Given the description of an element on the screen output the (x, y) to click on. 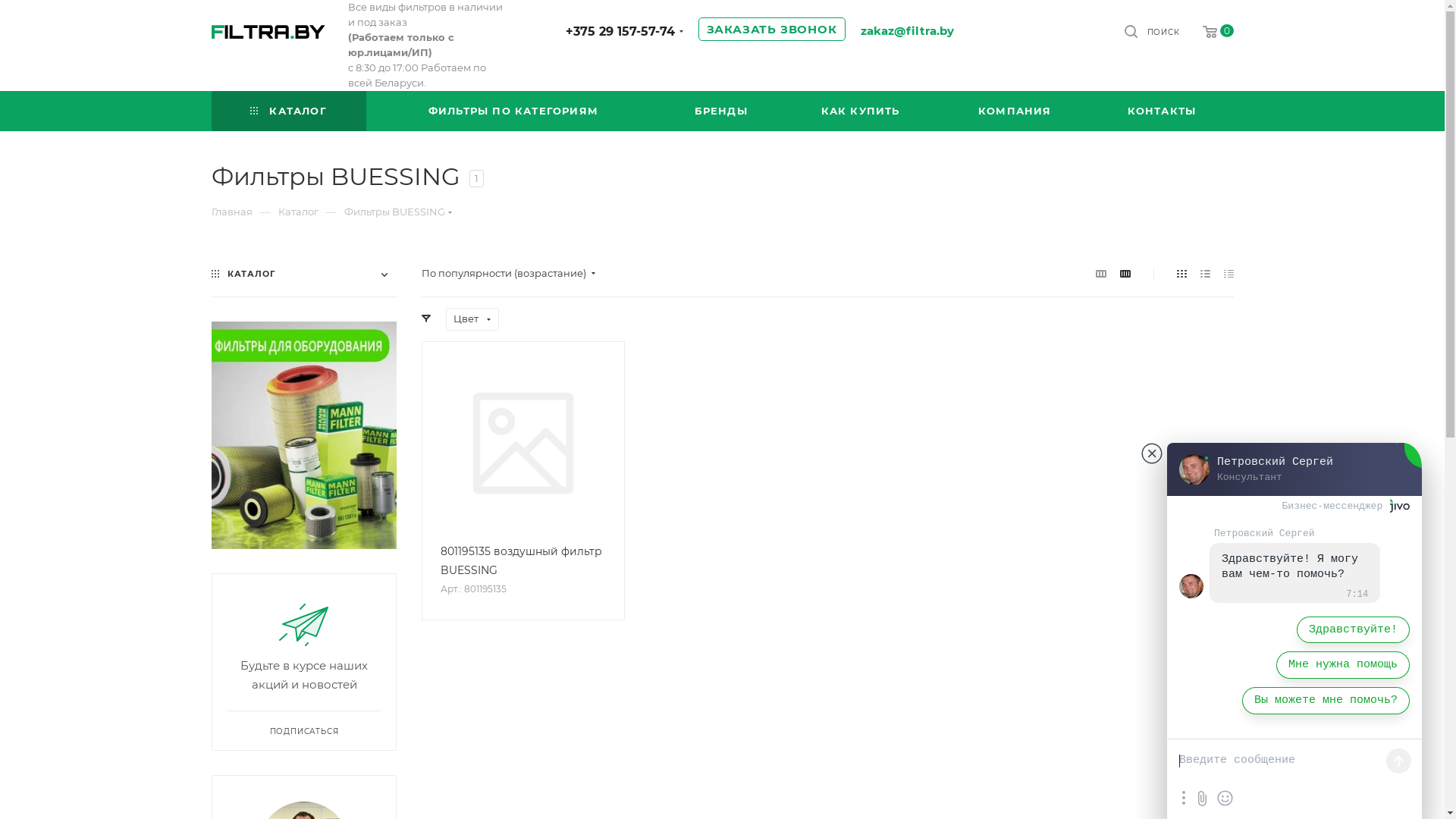
+375 29 157-57-74 Element type: text (619, 31)
0 Element type: text (1206, 31)
filtra.by Element type: hover (267, 31)
zakaz@filtra.by Element type: text (906, 29)
